Given the description of an element on the screen output the (x, y) to click on. 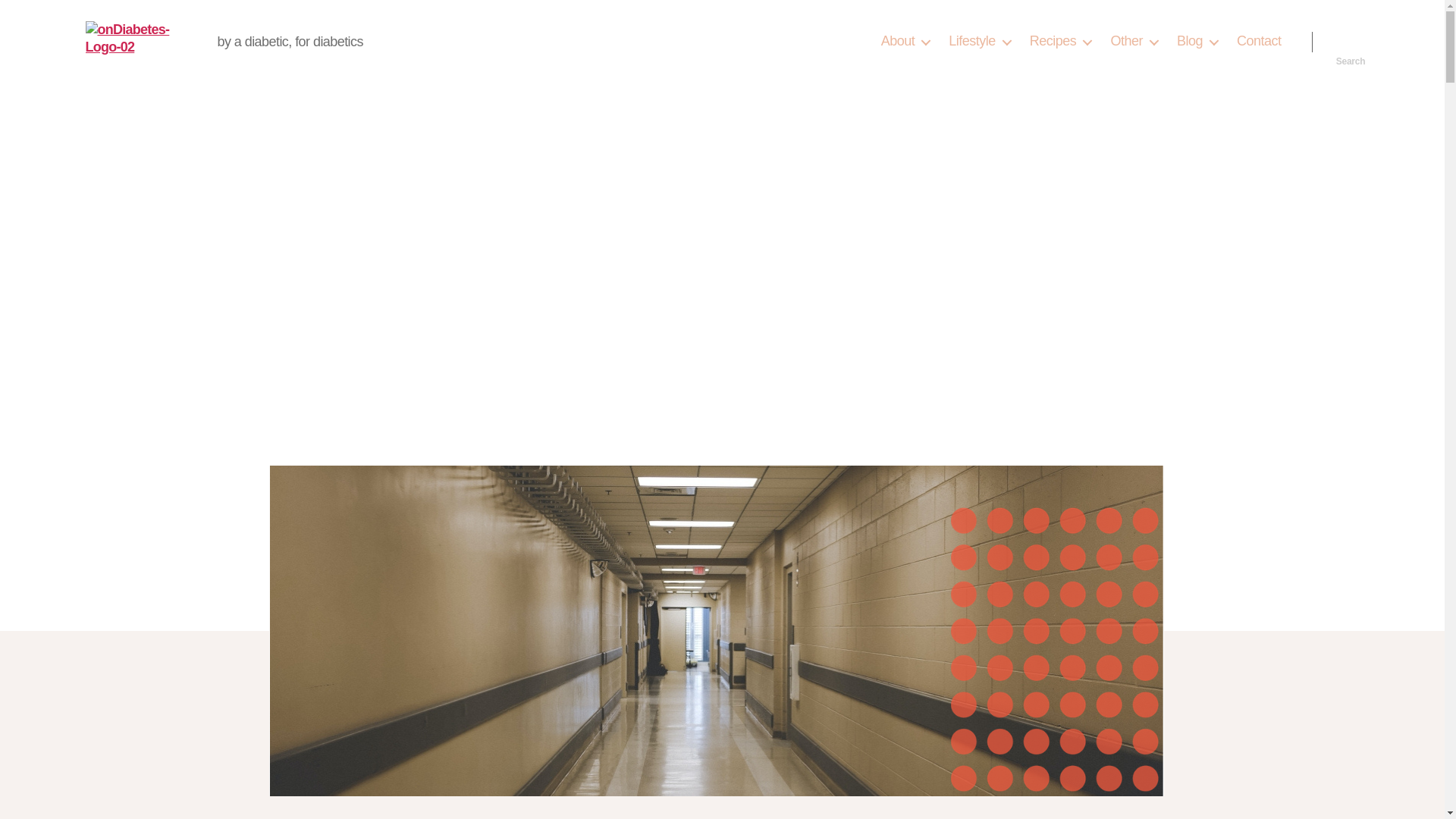
Blog (1196, 41)
Recipes (1060, 41)
Contact (1258, 41)
About (905, 41)
Search (1350, 41)
Other (1133, 41)
Lifestyle (979, 41)
